Given the description of an element on the screen output the (x, y) to click on. 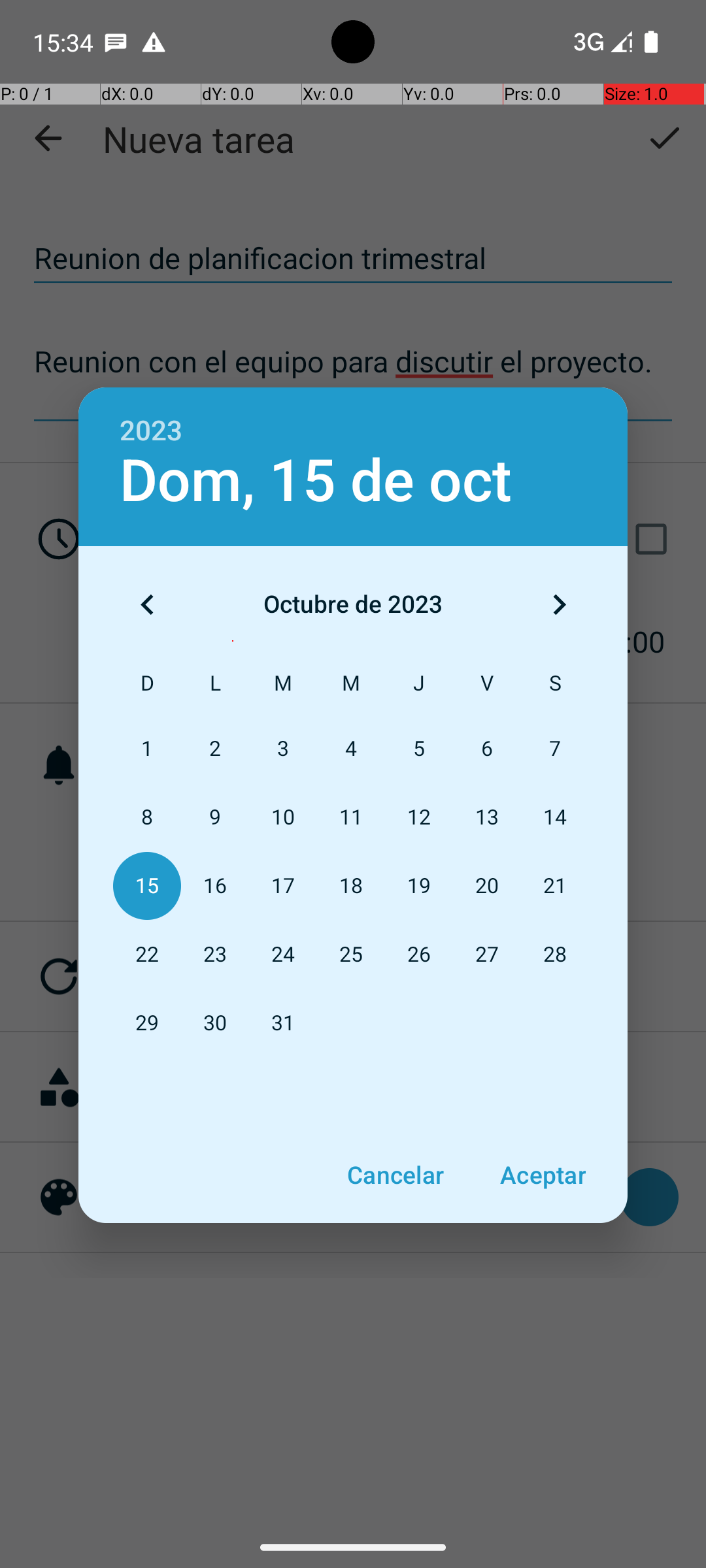
Dom, 15 de oct Element type: android.widget.TextView (315, 480)
Mes anterior Element type: android.widget.ImageButton (146, 604)
Mes siguiente Element type: android.widget.ImageButton (558, 604)
Cancelar Element type: android.widget.Button (394, 1174)
Aceptar Element type: android.widget.Button (542, 1174)
